Given the description of an element on the screen output the (x, y) to click on. 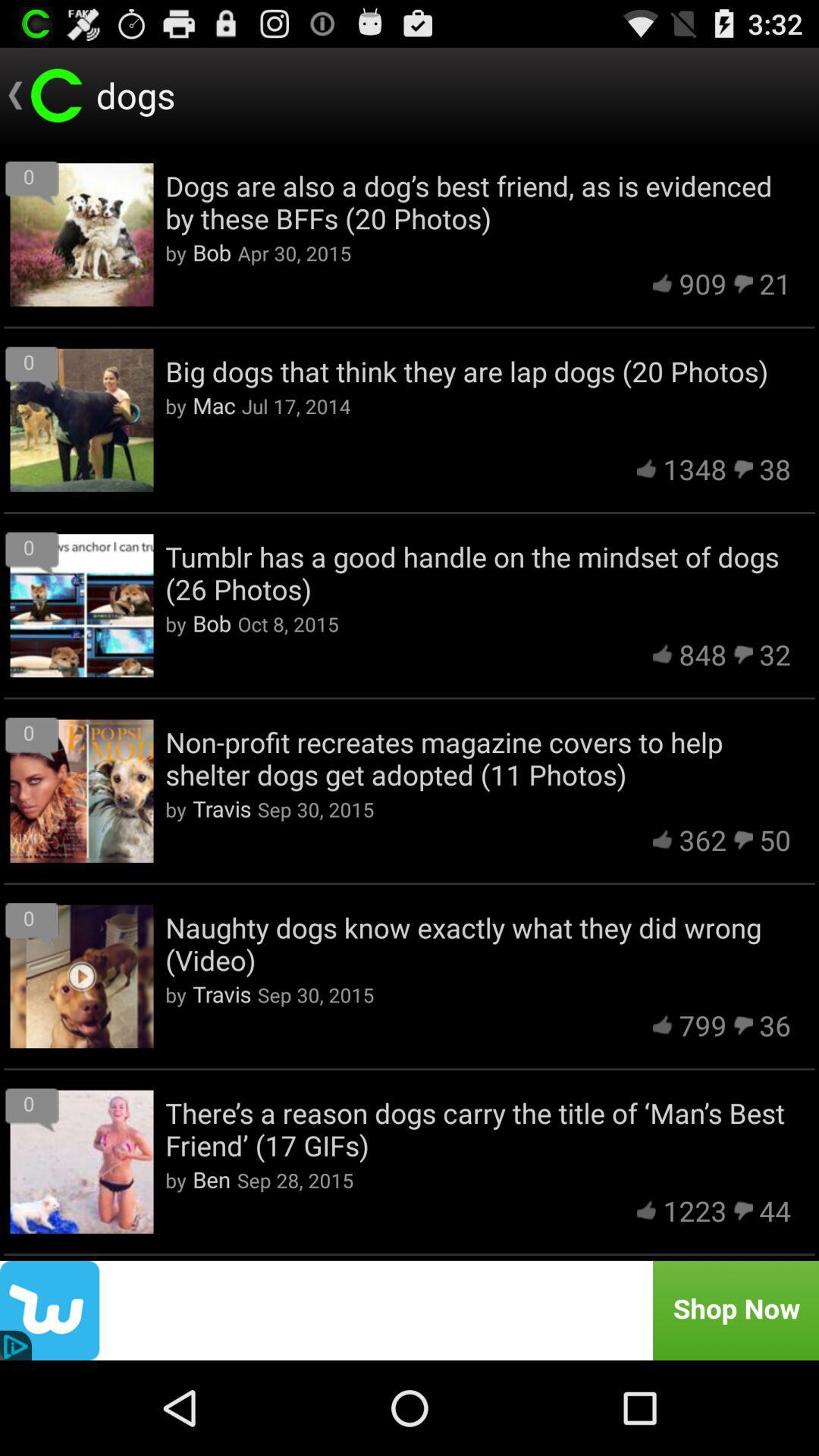
go to advertisement (409, 1310)
